Given the description of an element on the screen output the (x, y) to click on. 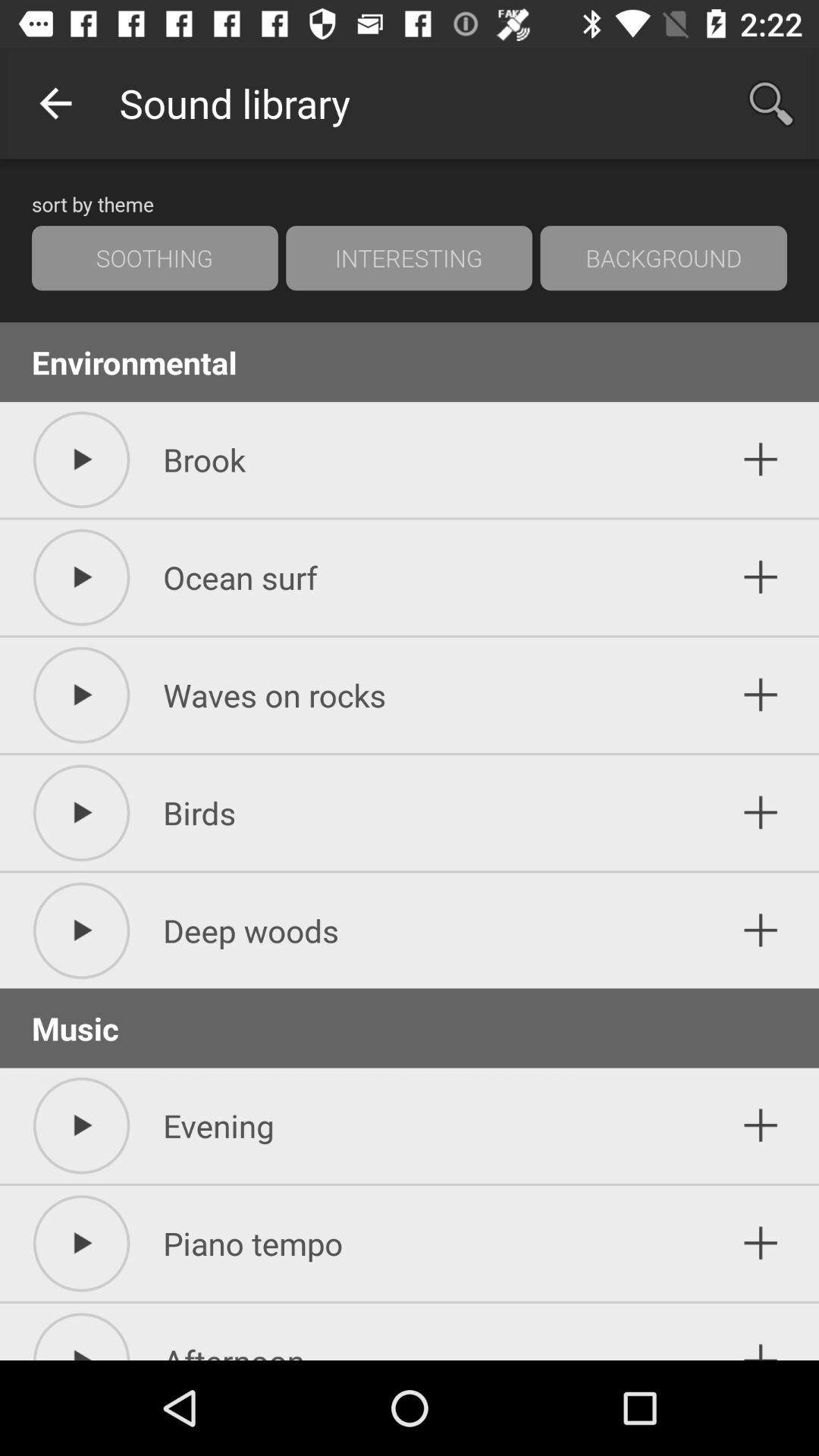
tap the item above the environmental icon (663, 257)
